Given the description of an element on the screen output the (x, y) to click on. 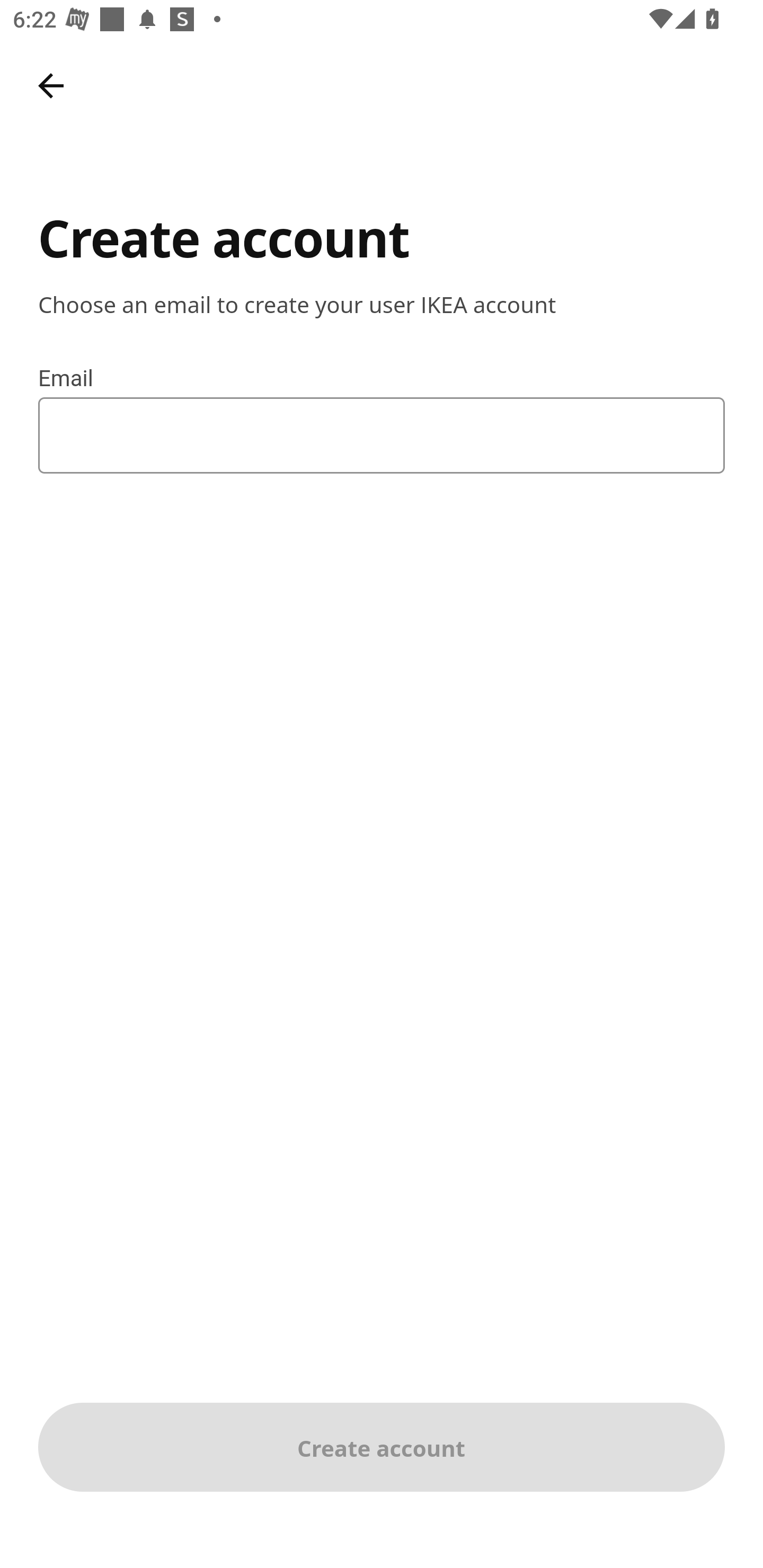
Create account (381, 1447)
